Given the description of an element on the screen output the (x, y) to click on. 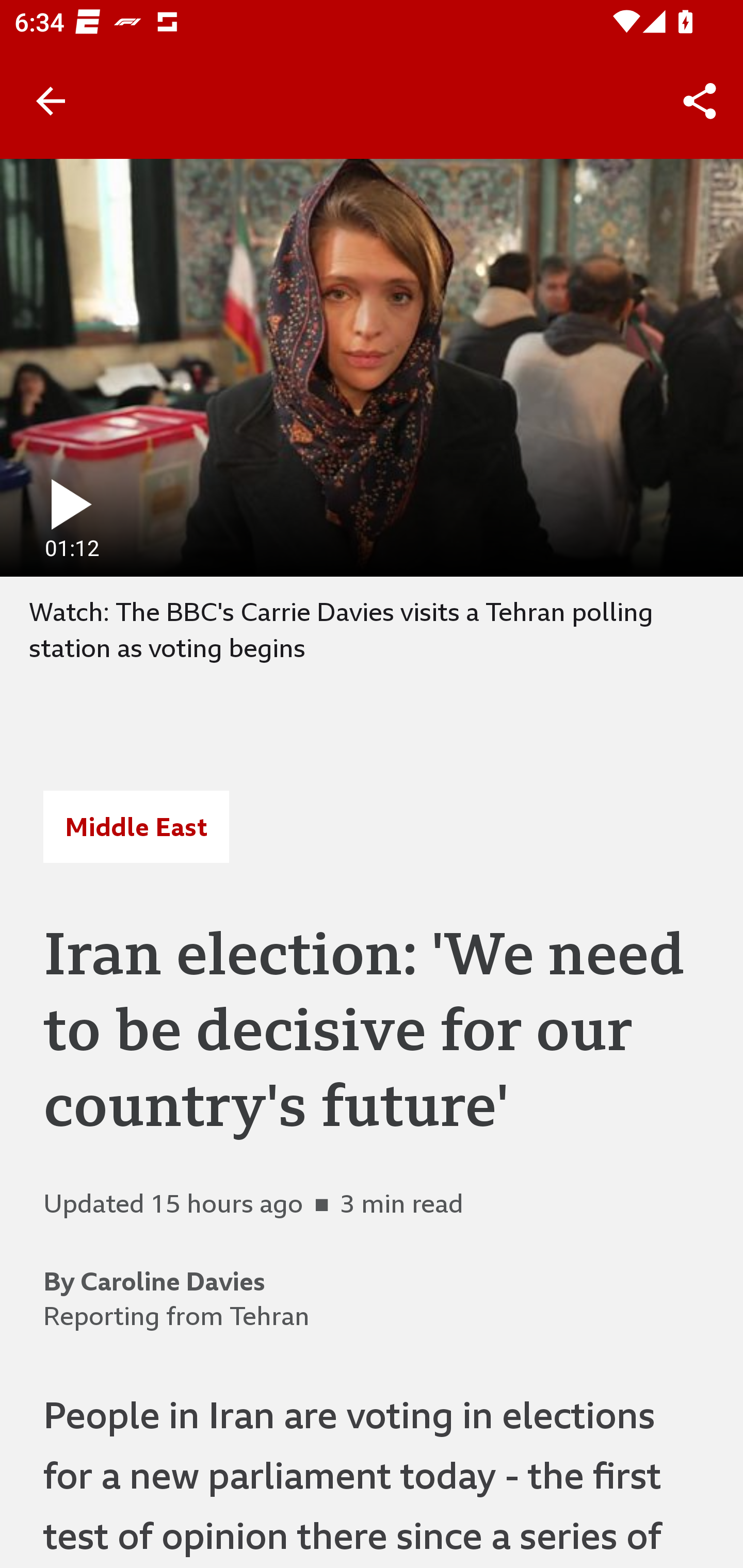
Back (50, 101)
Share (699, 101)
play fullscreen 01:12 1 minute, 12 seconds (371, 367)
Middle East (135, 827)
